Given the description of an element on the screen output the (x, y) to click on. 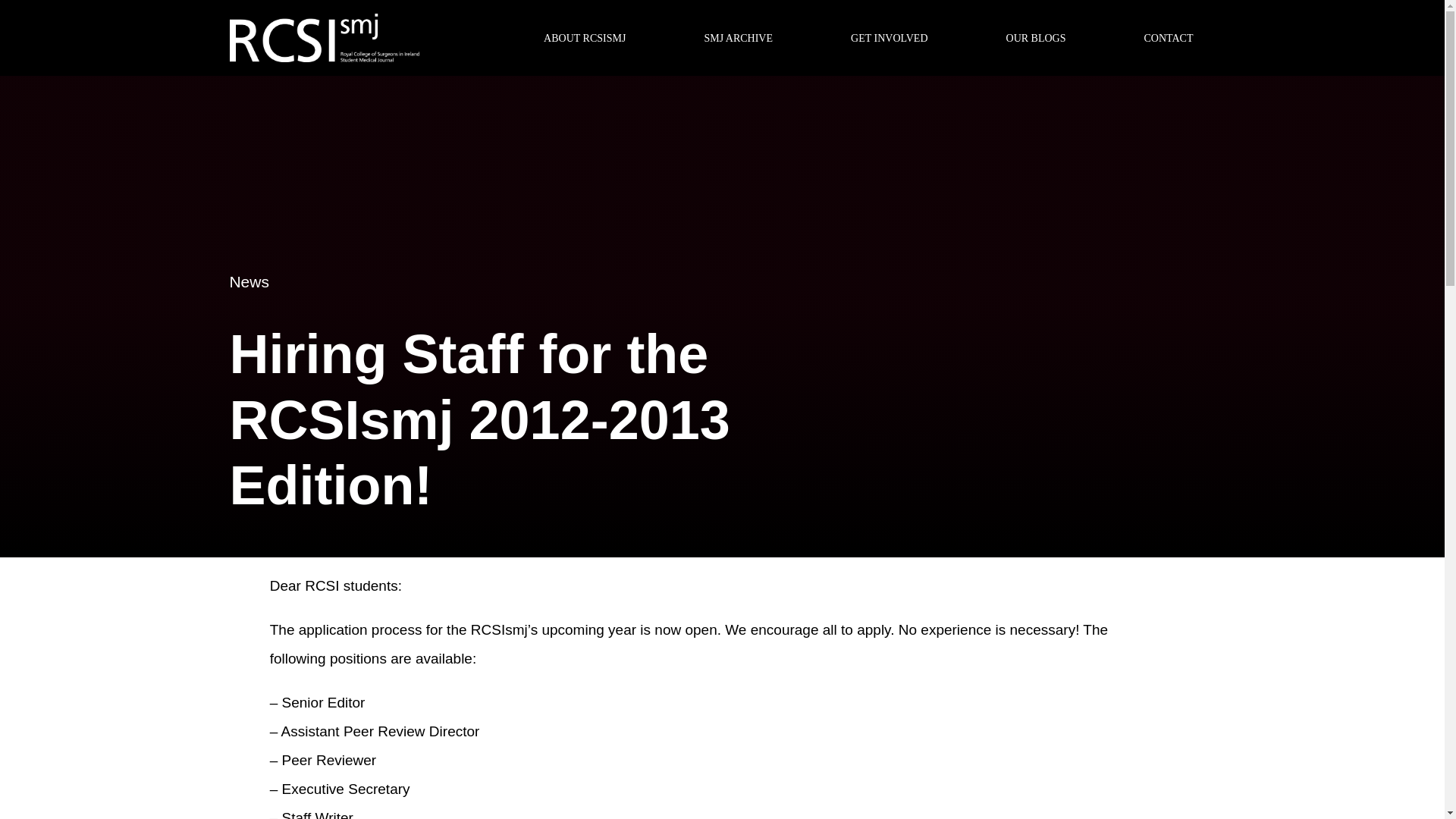
OUR BLOGS (1035, 37)
ABOUT RCSISMJ (584, 37)
SMJ ARCHIVE (737, 37)
CONTACT (1168, 37)
News (248, 281)
GET INVOLVED (889, 37)
News (248, 281)
